Given the description of an element on the screen output the (x, y) to click on. 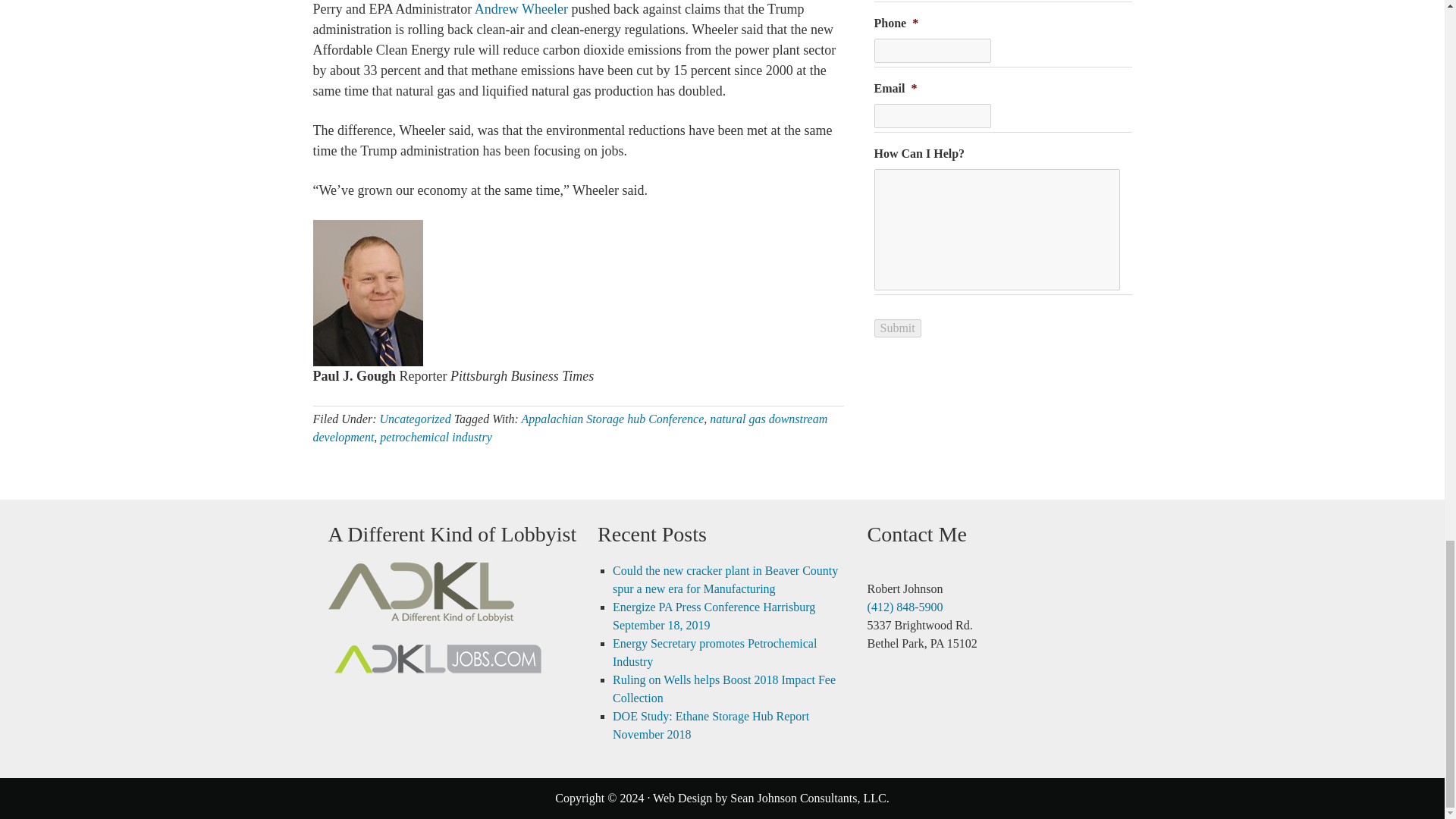
Appalachian Storage hub Conference (612, 418)
Uncategorized (413, 418)
petrochemical industry (436, 436)
Submit (896, 328)
natural gas downstream development (570, 427)
Andrew Wheeler (520, 8)
